Given the description of an element on the screen output the (x, y) to click on. 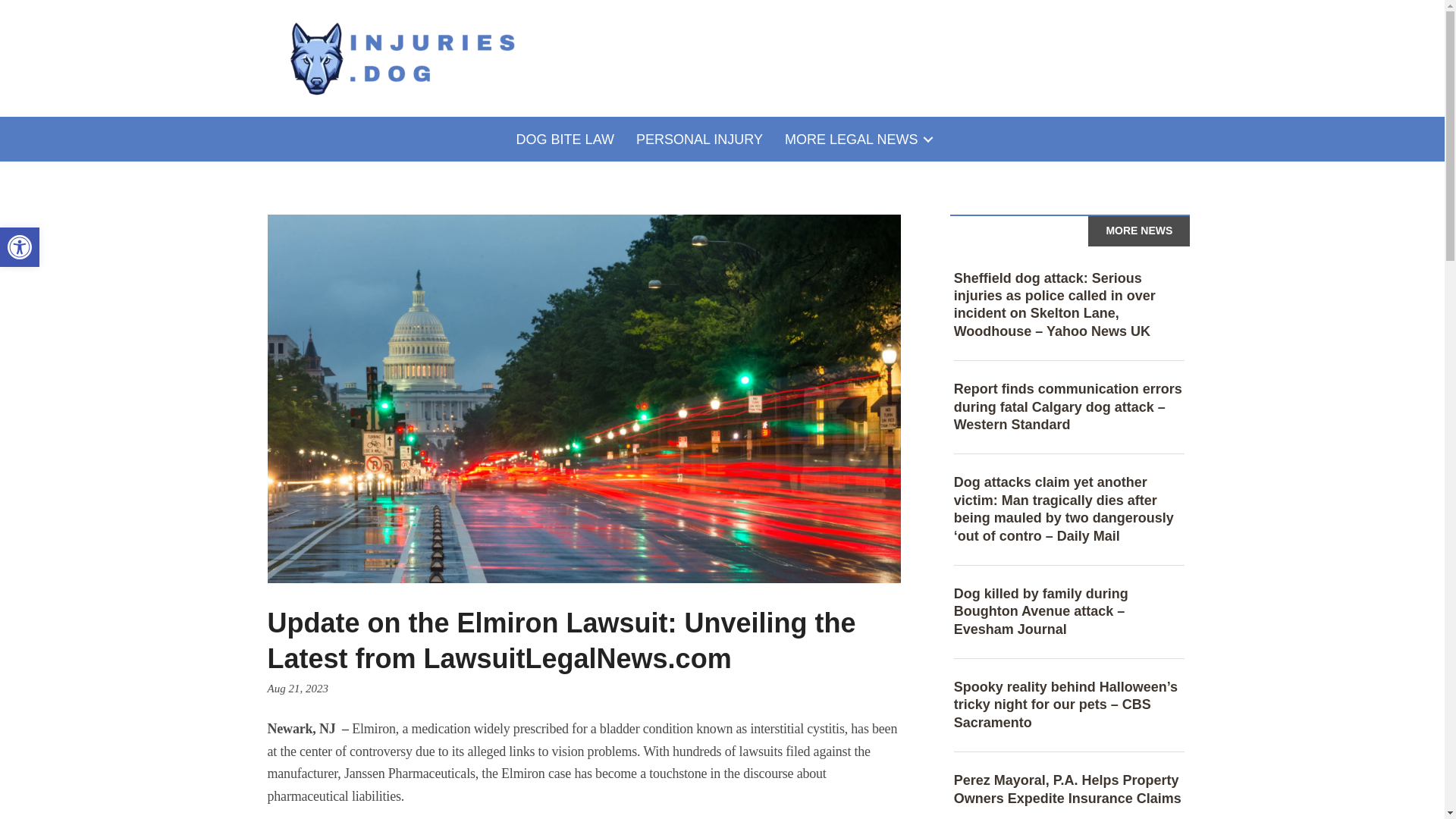
DOG BITE LAW (564, 139)
Accessibility Tools (19, 247)
MORE LEGAL NEWS (856, 139)
Dog Bite Injuries (401, 57)
PERSONAL INJURY (699, 139)
